Given the description of an element on the screen output the (x, y) to click on. 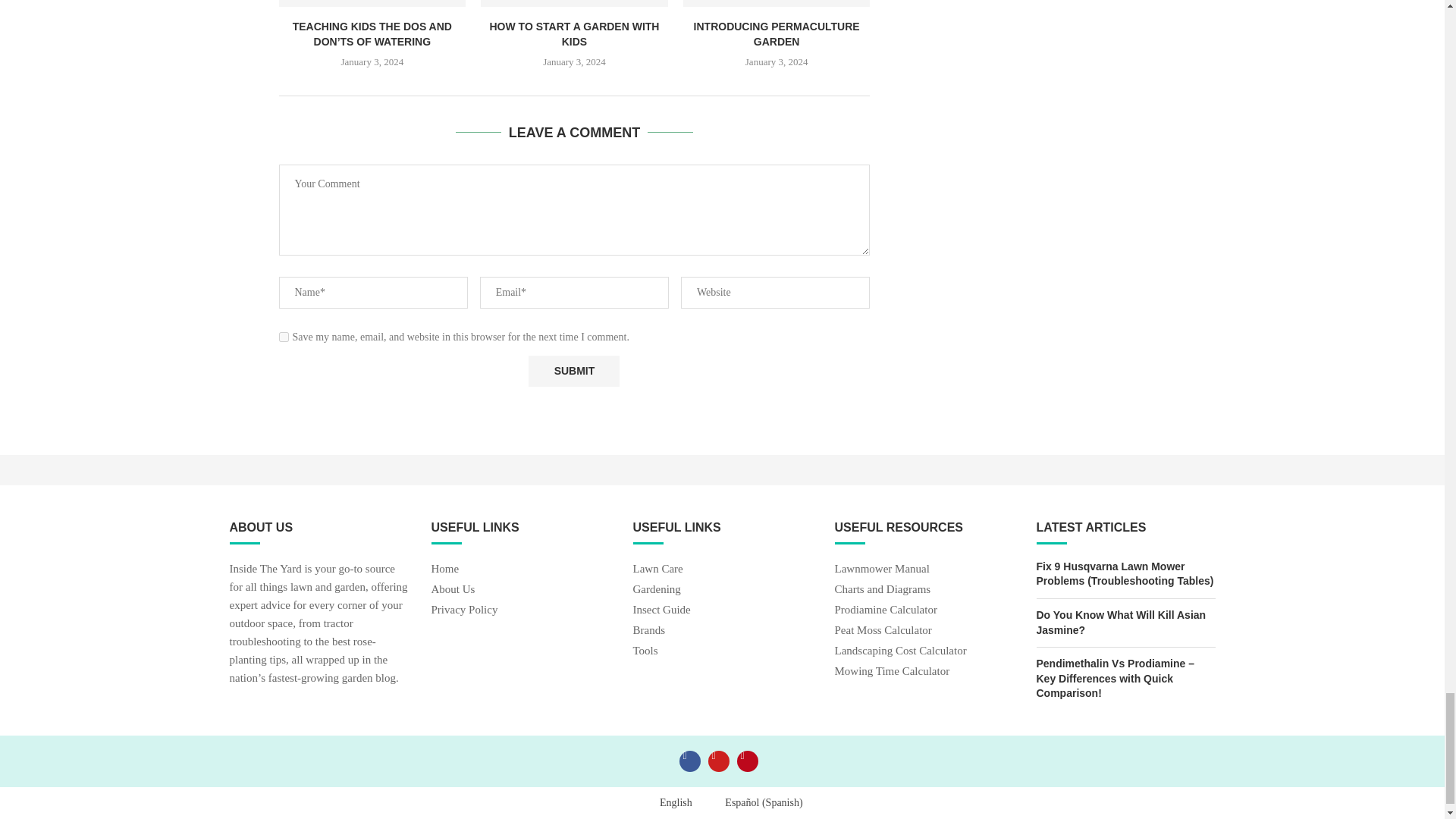
How To Start A Garden With Kids (574, 3)
yes (283, 337)
Submit (574, 370)
Introducing Permaculture Garden (776, 3)
